Given the description of an element on the screen output the (x, y) to click on. 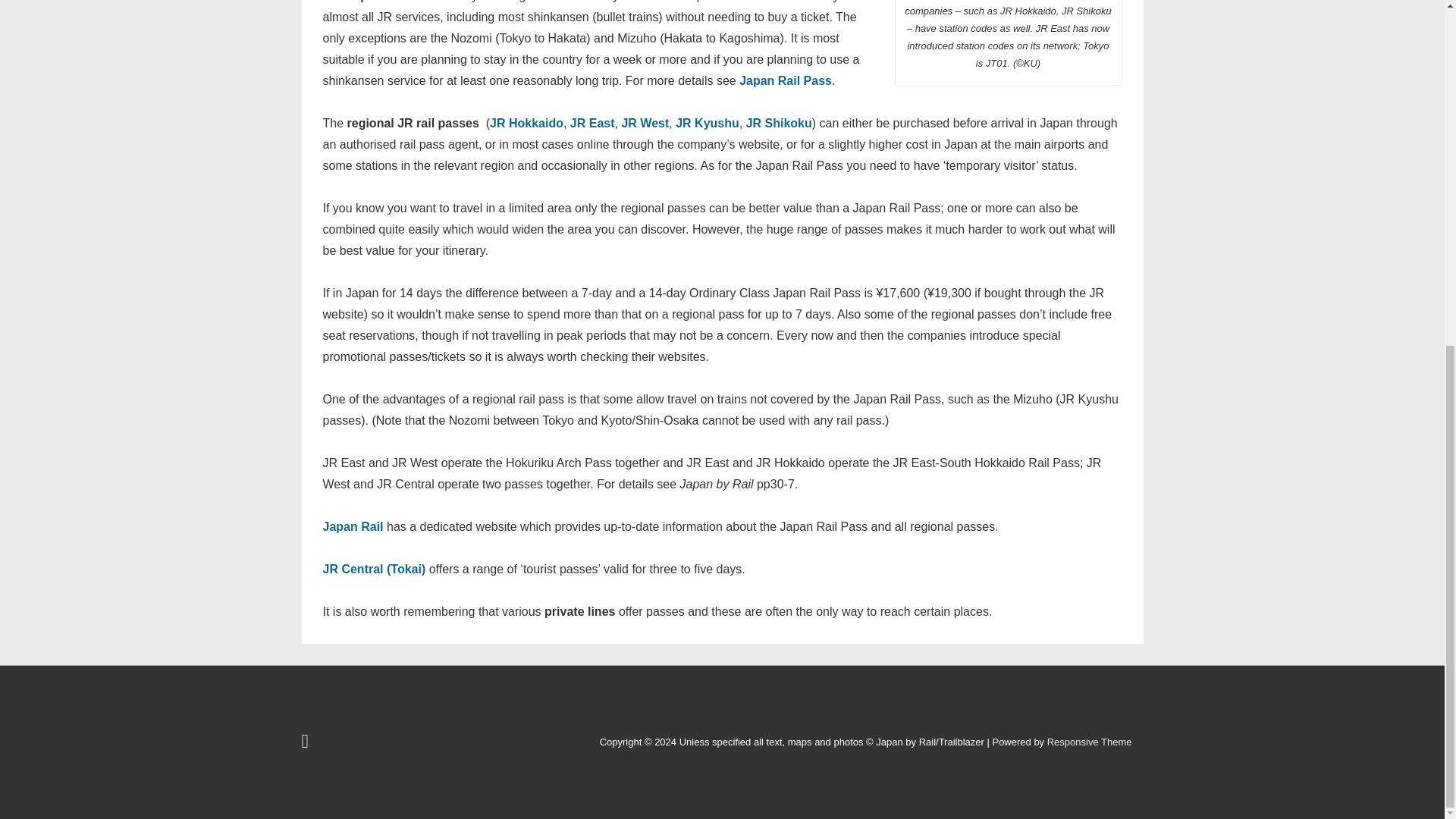
Japan Rail (353, 526)
JR Shikoku (778, 123)
JR West (644, 123)
facebook (307, 744)
Japan Rail Pass (785, 80)
JR East (592, 123)
JR Hokkaido (526, 123)
Responsive Theme (1089, 741)
JR Kyushu (707, 123)
